Given the description of an element on the screen output the (x, y) to click on. 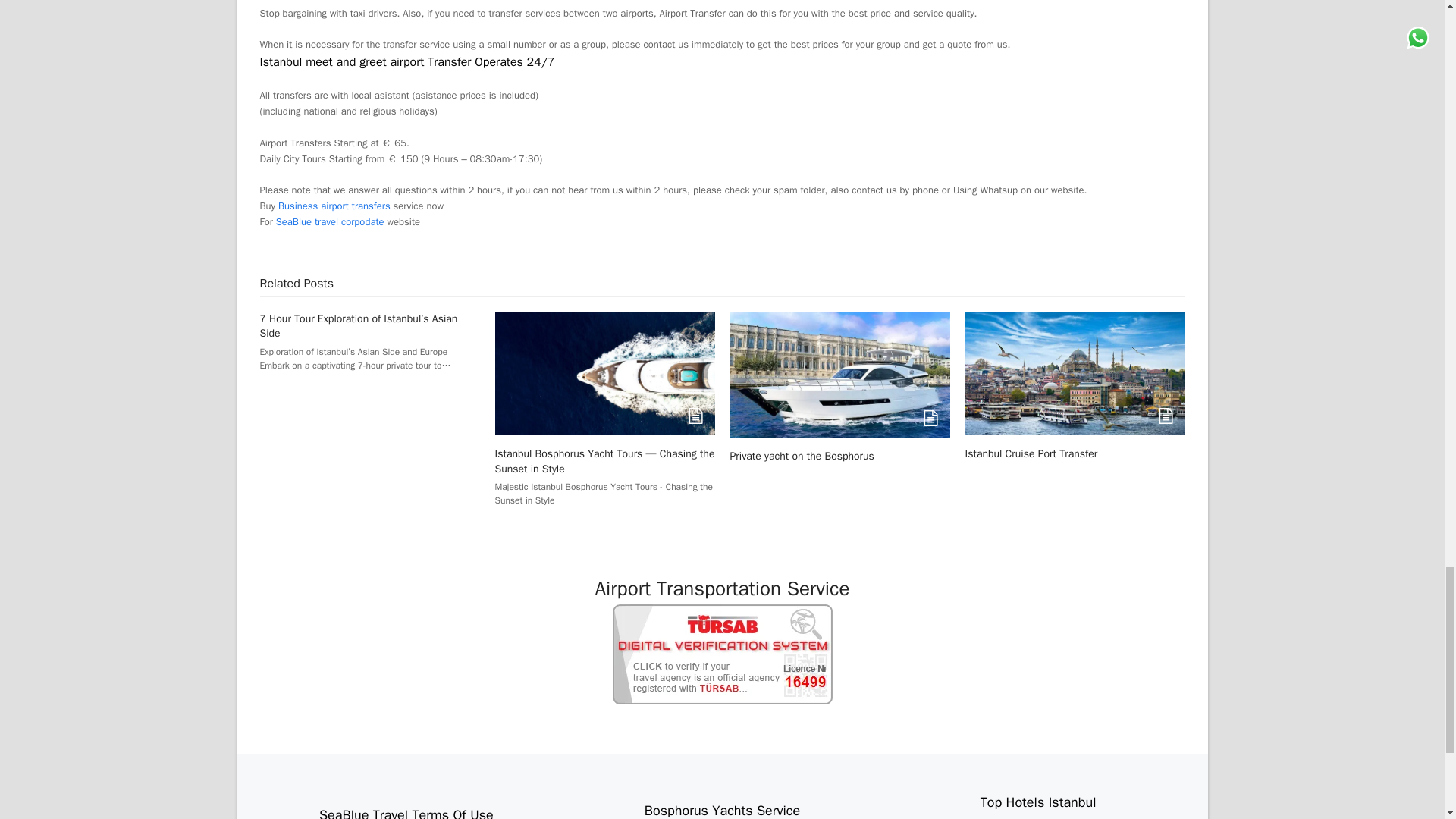
tursab dvs 16499 (722, 654)
